Given the description of an element on the screen output the (x, y) to click on. 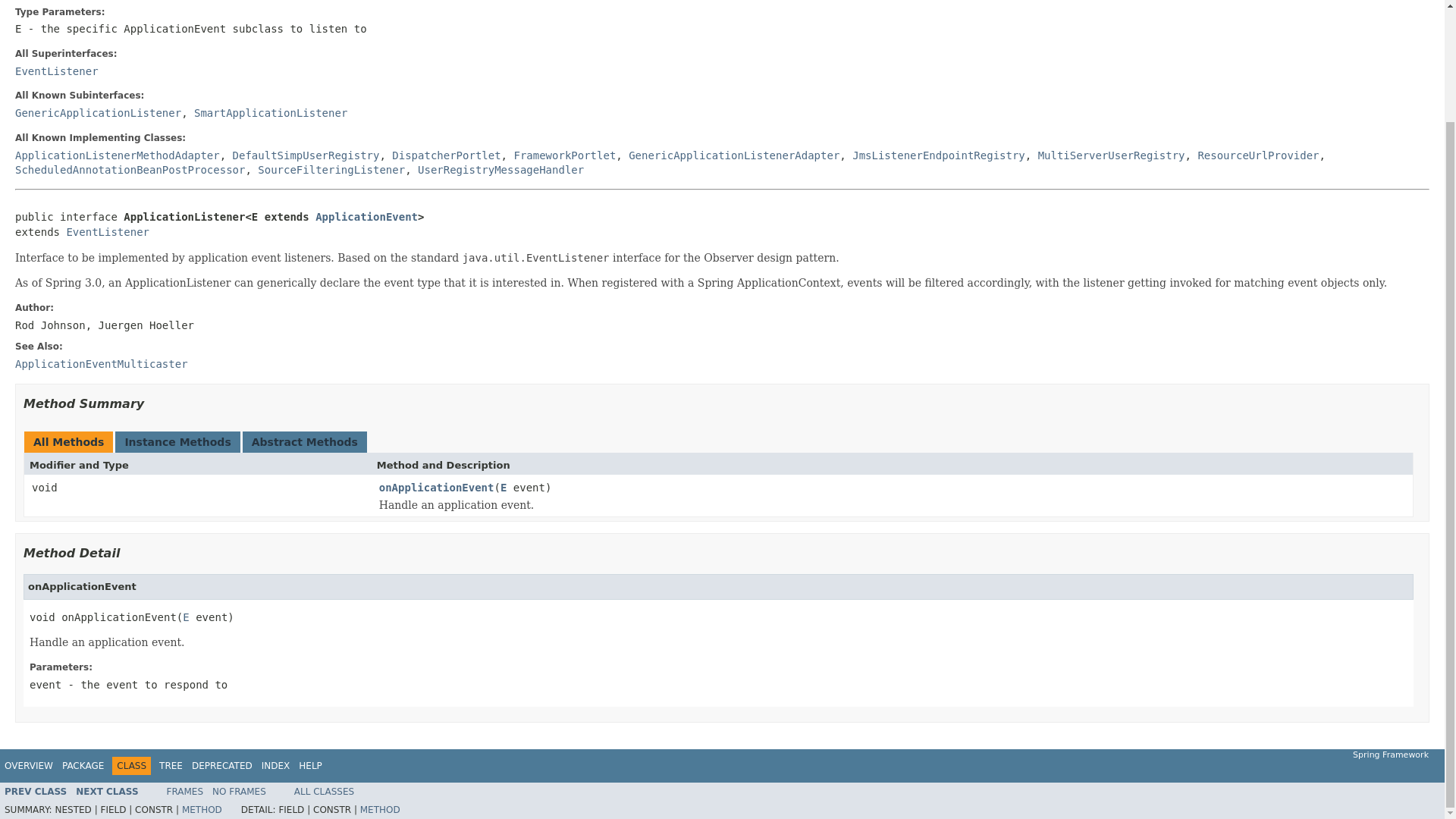
JmsListenerEndpointRegistry (938, 155)
class in org.springframework.web.socket.messaging (306, 155)
SourceFilteringListener (330, 169)
interface in org.springframework.context.event (270, 112)
DefaultSimpUserRegistry (306, 155)
Instance Methods (176, 441)
class in org.springframework.context.event (330, 169)
UserRegistryMessageHandler (500, 169)
class in org.springframework.web.portlet (445, 155)
class or interface in java.util (56, 70)
